Given the description of an element on the screen output the (x, y) to click on. 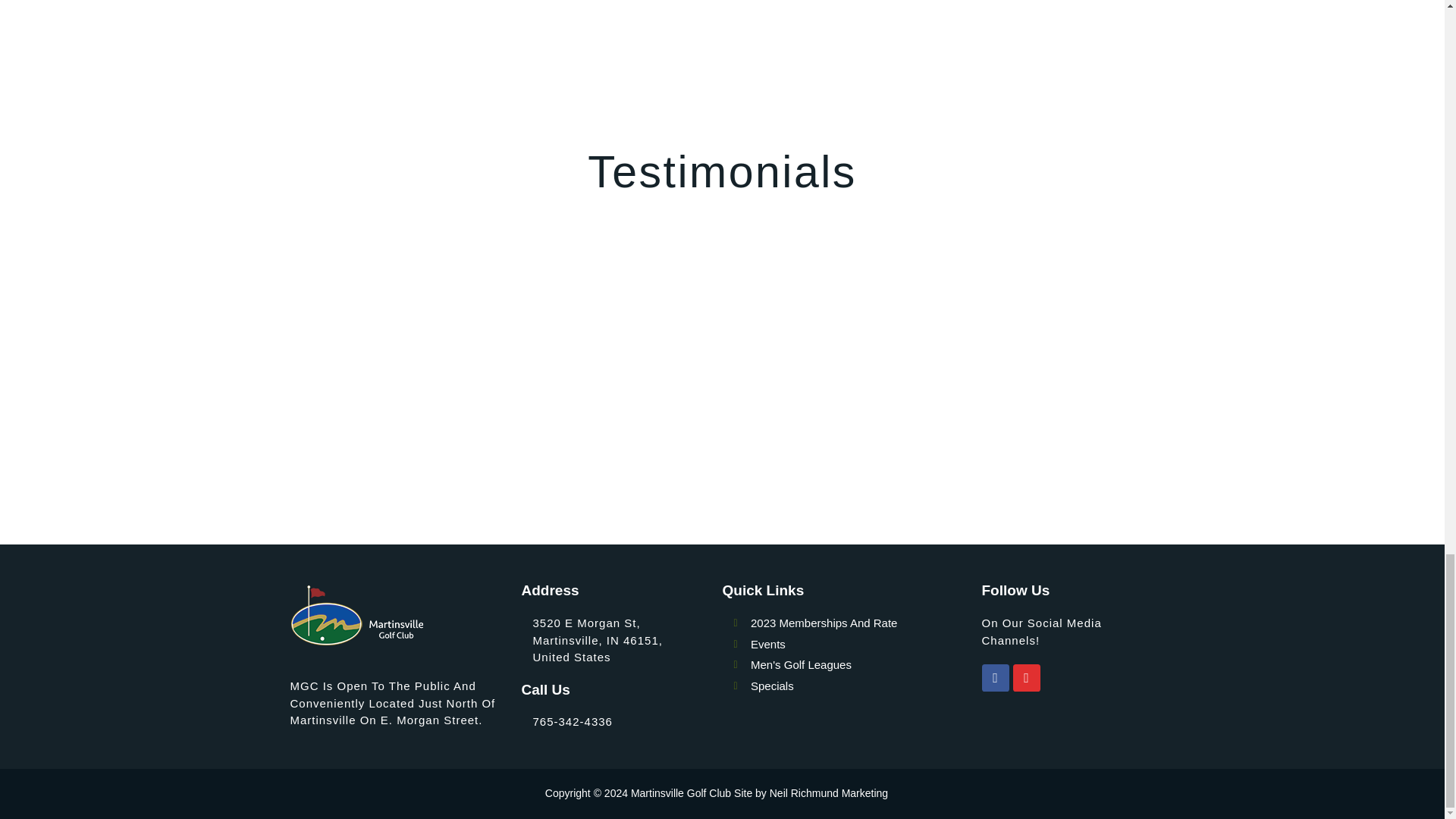
765-342-4336 (571, 721)
Specials (857, 686)
Events (857, 644)
Neil Richmund Marketing (829, 793)
Facebook (995, 677)
Men's Golf Leagues (857, 665)
Instagram (1027, 677)
2023 Memberships And Rate (857, 623)
